Given the description of an element on the screen output the (x, y) to click on. 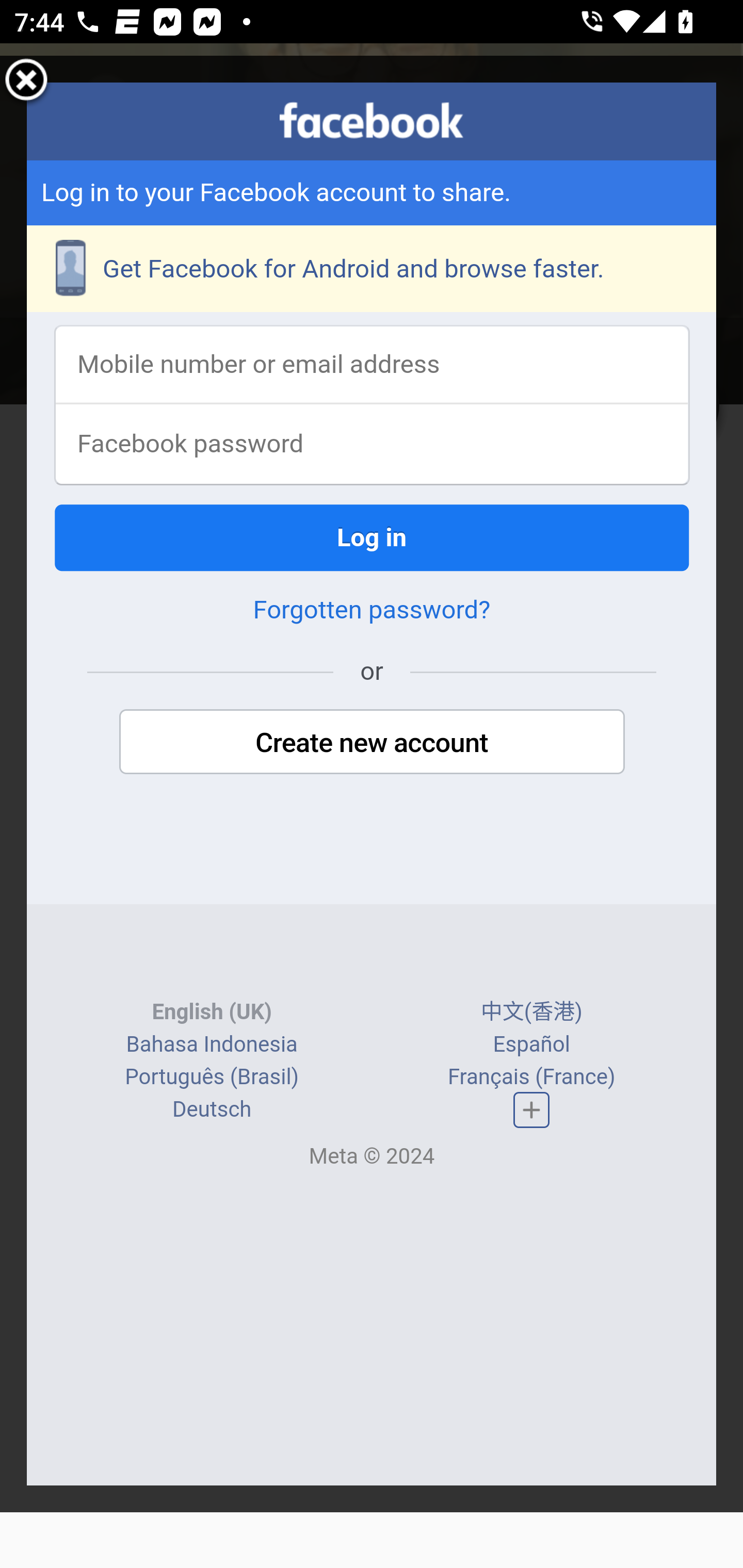
facebook (372, 121)
Get Facebook for Android and browse faster. (372, 270)
Log in (372, 538)
Forgotten password? (371, 611)
Create new account (371, 743)
中文(香港) (531, 1013)
Bahasa Indonesia (210, 1044)
Español (530, 1044)
Português (Brasil) (211, 1077)
Français (France) (530, 1077)
Complete list of languages (531, 1110)
Deutsch (211, 1110)
